Given the description of an element on the screen output the (x, y) to click on. 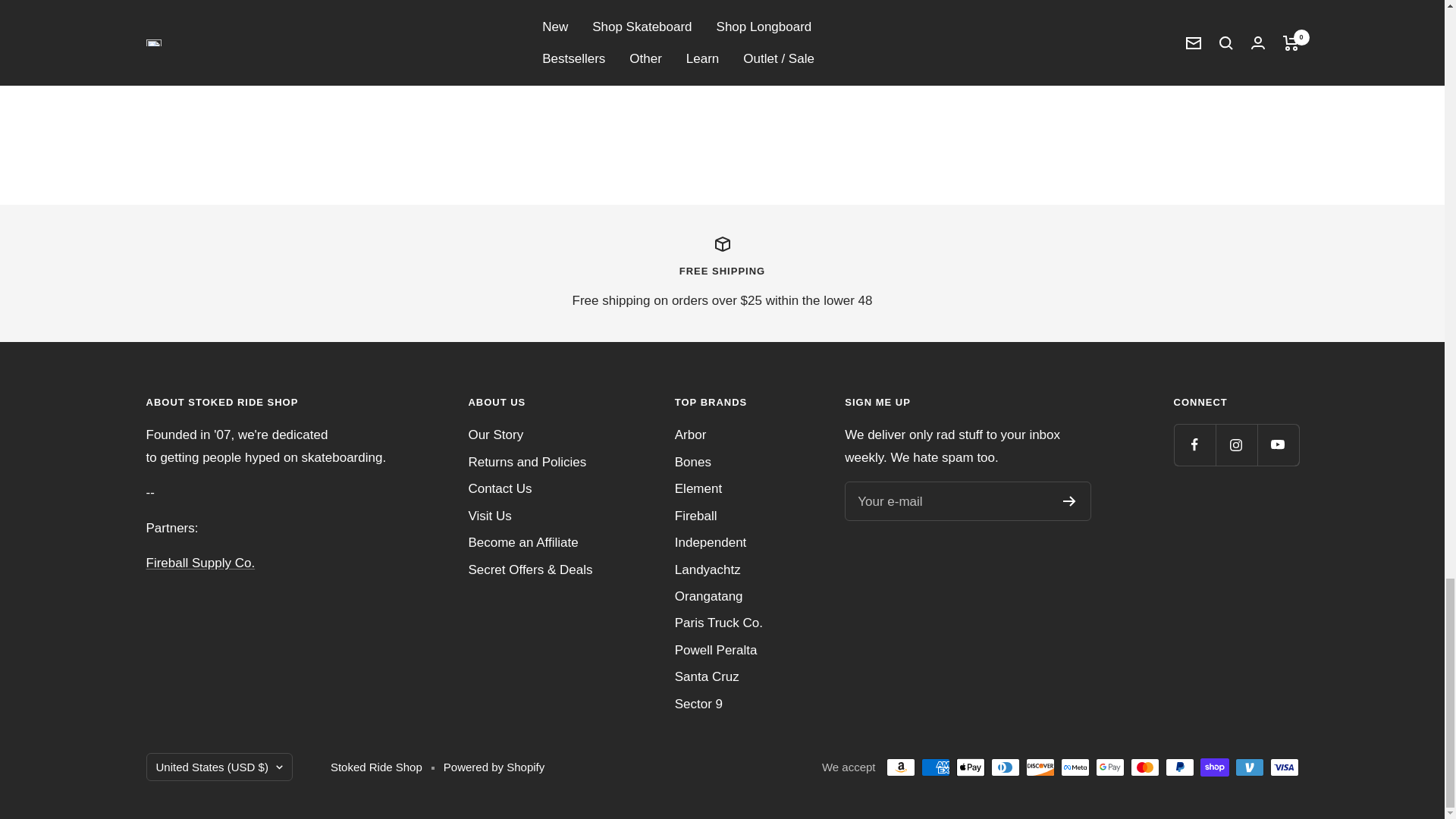
Fireball Supply Co. (199, 563)
Register (1068, 501)
